Given the description of an element on the screen output the (x, y) to click on. 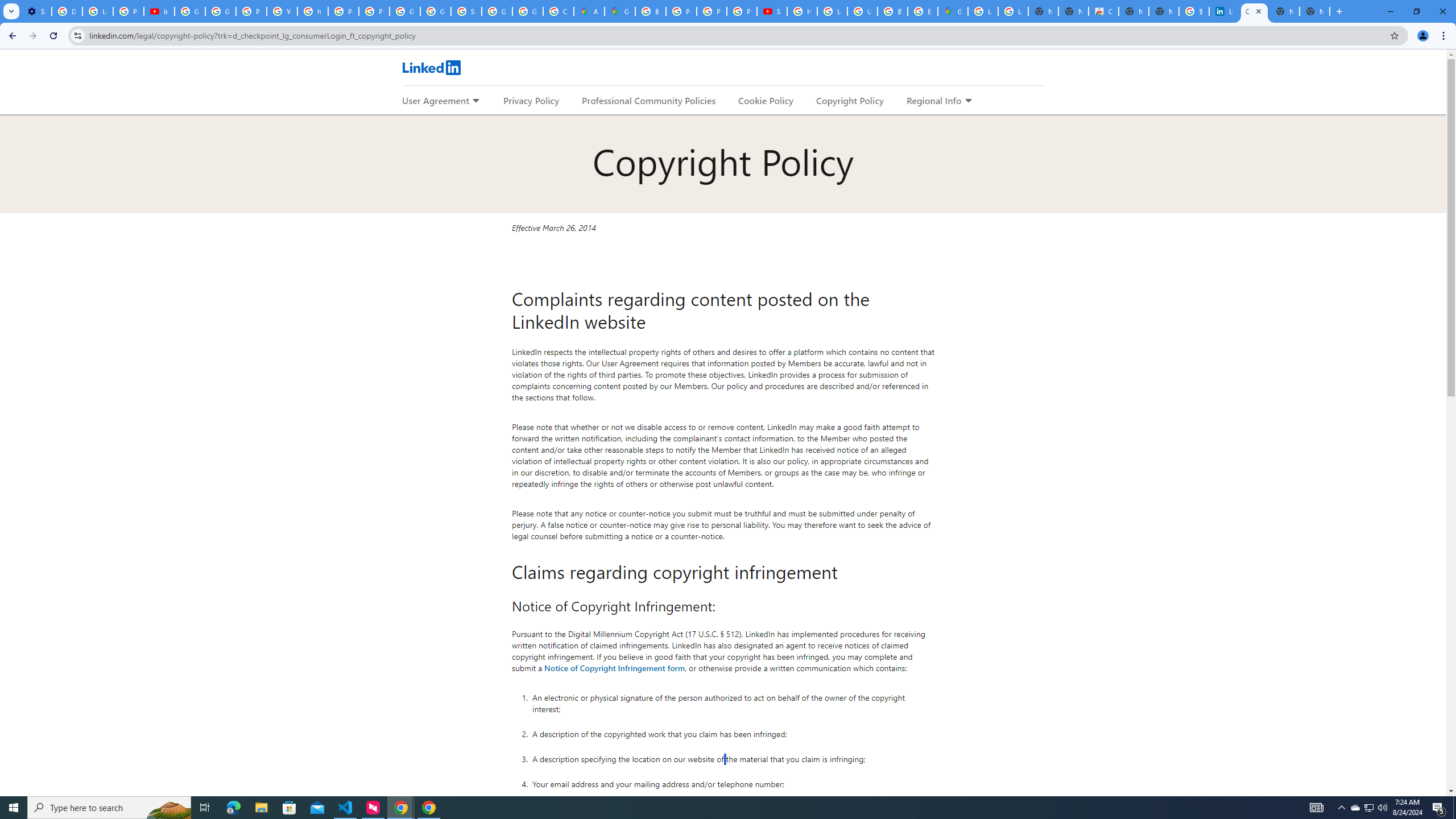
Chrome Web Store (1103, 11)
Professional Community Policies (649, 100)
Create your Google Account (558, 11)
User Agreement (434, 100)
